Given the description of an element on the screen output the (x, y) to click on. 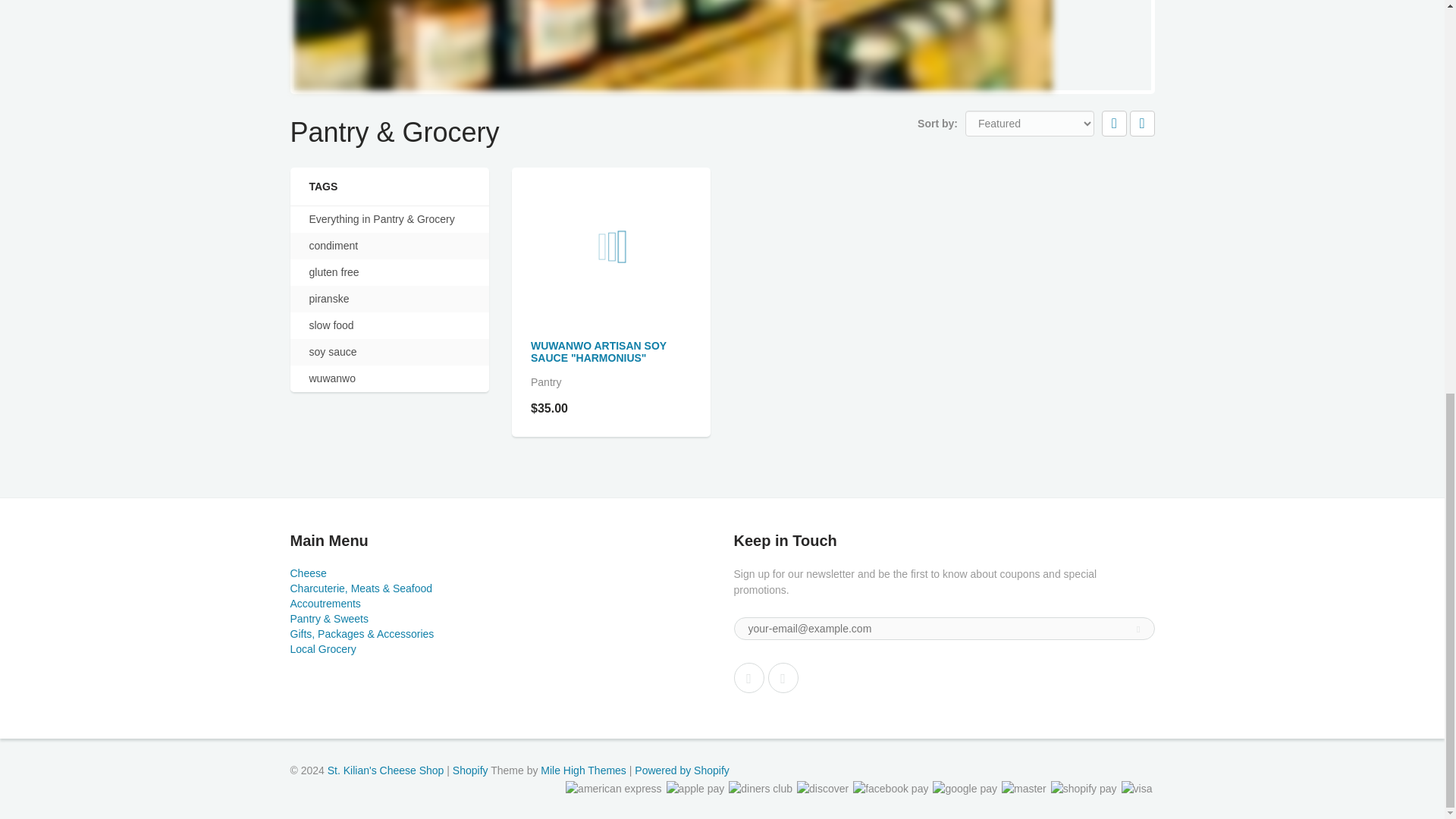
Show products matching tag condiment (333, 245)
Show products matching tag gluten free (333, 272)
Facebook (748, 677)
Show products matching tag soy sauce (332, 351)
Show products matching tag piranske (328, 299)
List View (1141, 123)
Show products matching tag slow food (330, 325)
Grid view (1114, 123)
Instagram (782, 677)
Remove tag wuwanwo (331, 378)
